Given the description of an element on the screen output the (x, y) to click on. 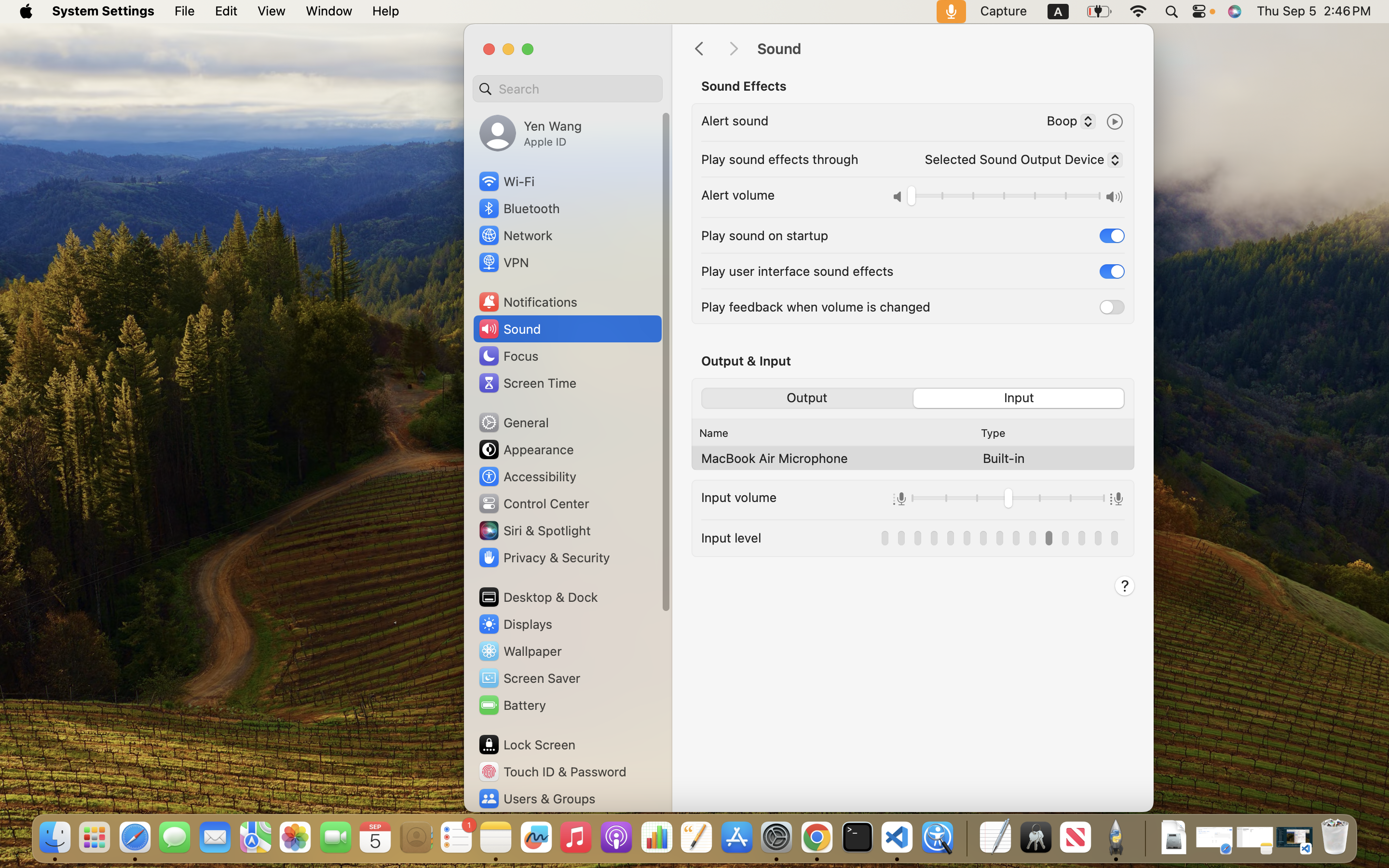
Yen Wang, Apple ID Element type: AXStaticText (530, 132)
Network Element type: AXStaticText (514, 234)
Touch ID & Password Element type: AXStaticText (551, 771)
Control Center Element type: AXStaticText (533, 503)
0.0 Element type: AXSlider (1003, 197)
